Given the description of an element on the screen output the (x, y) to click on. 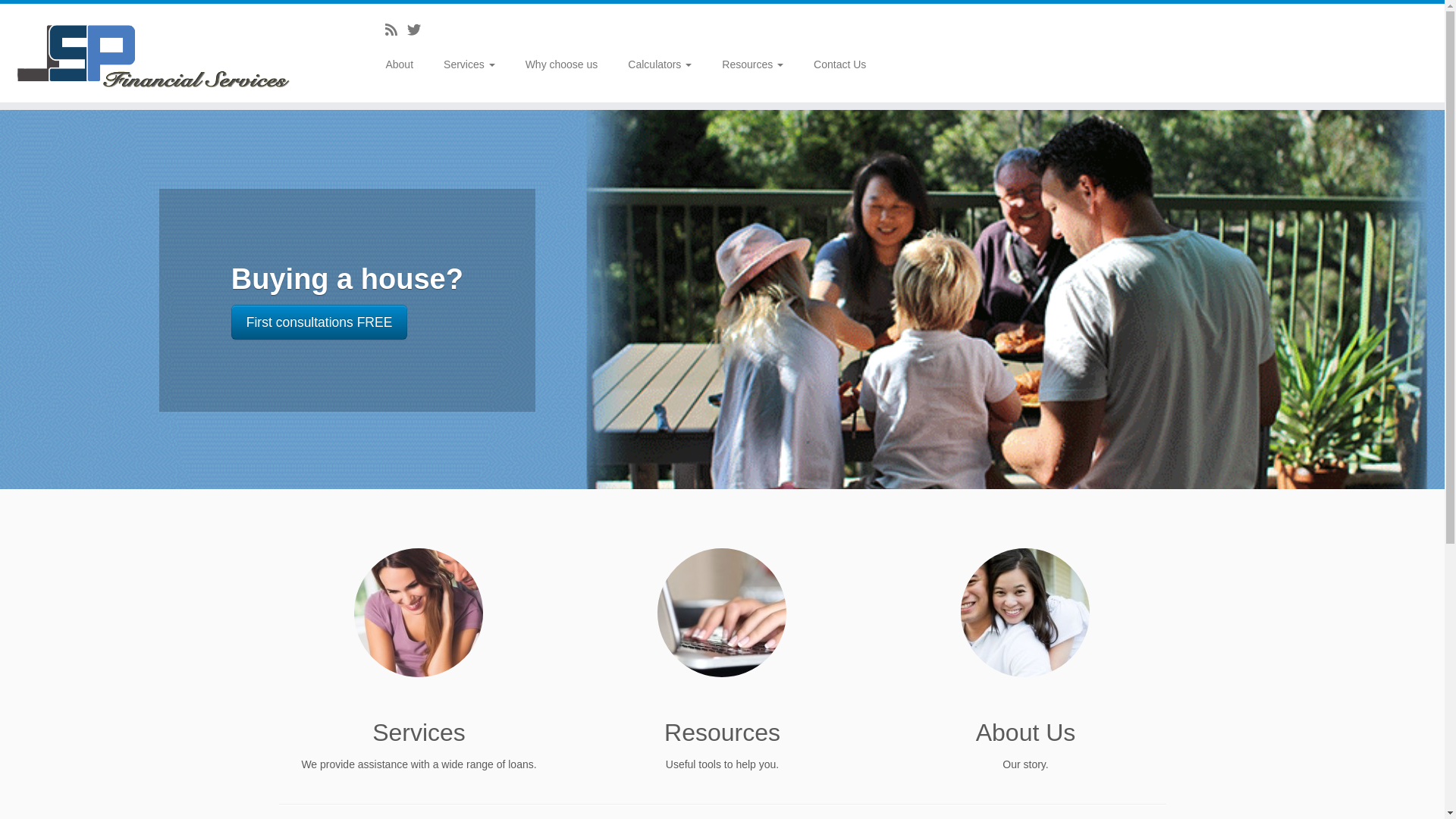
Why choose us Element type: text (561, 64)
Contact Us Element type: text (832, 64)
Subscribe to my rss feed Element type: hover (396, 29)
First consultations FREE Element type: text (319, 321)
About Element type: text (404, 64)
Follow me on Twitter Element type: hover (418, 29)
Resources Element type: text (752, 64)
Services Element type: text (469, 64)
Calculators Element type: text (659, 64)
